Given the description of an element on the screen output the (x, y) to click on. 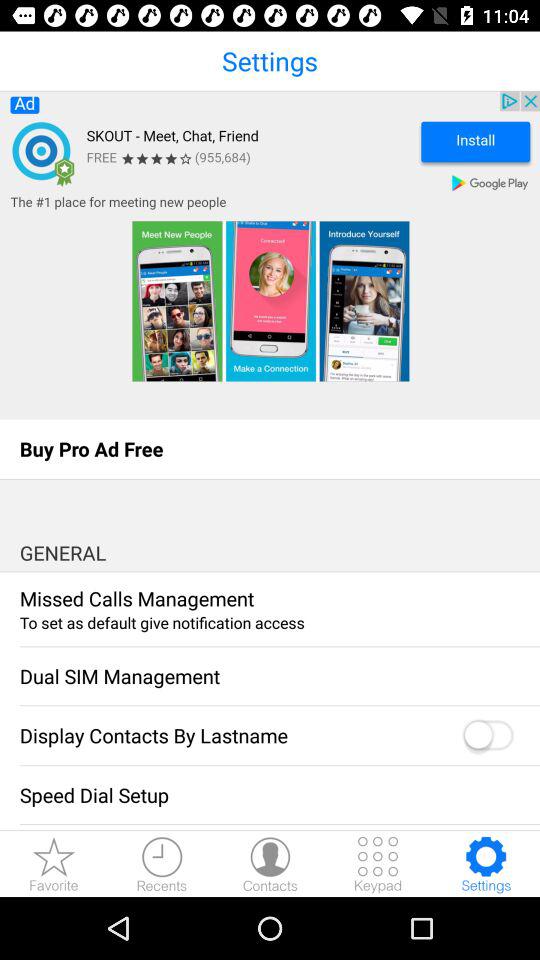
toggle keypad (377, 864)
